Given the description of an element on the screen output the (x, y) to click on. 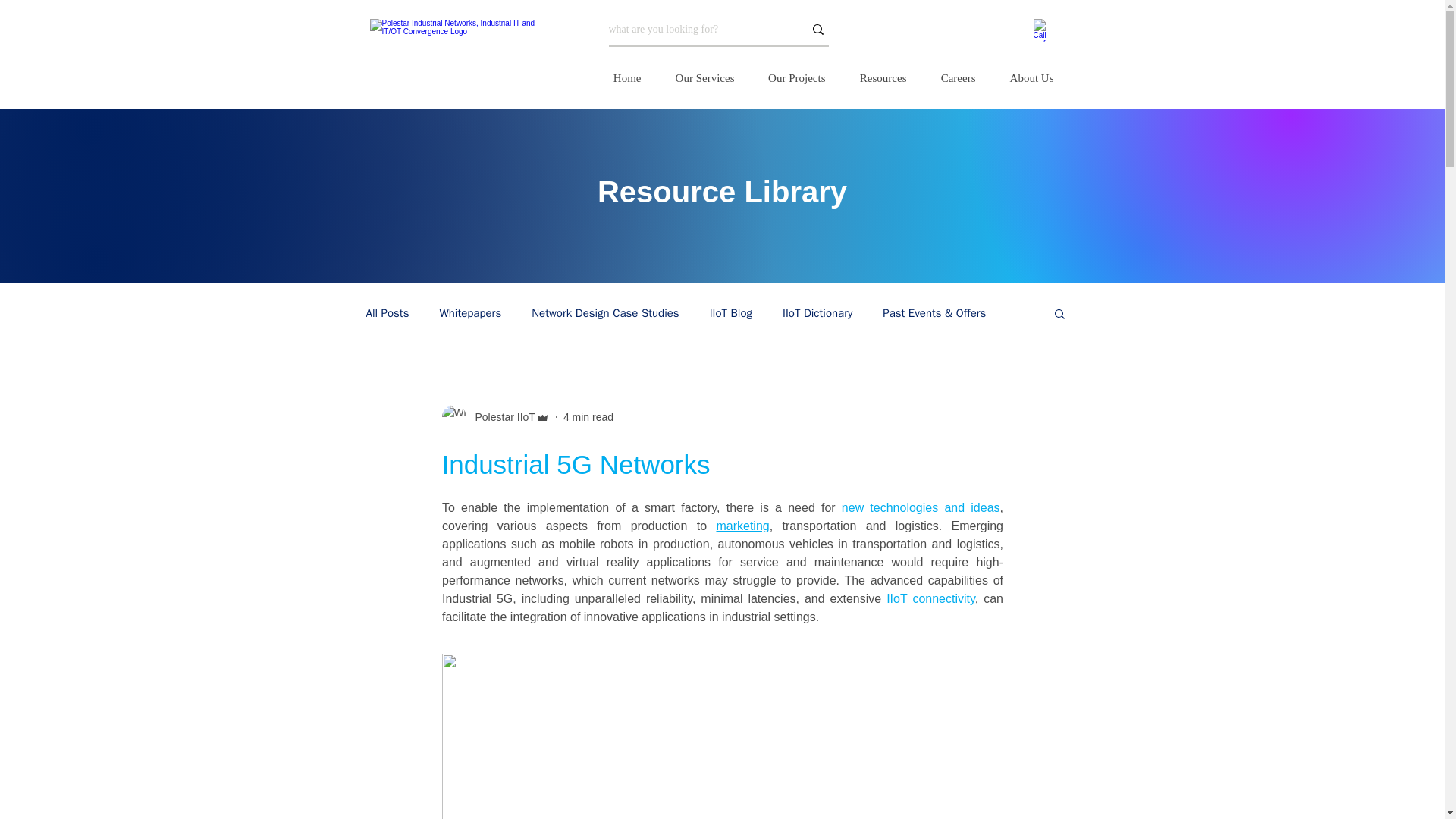
Whitepapers (469, 313)
Resources (877, 78)
Network Design Case Studies (604, 313)
About Us (1026, 78)
Home (620, 78)
IIoT Blog (731, 313)
Careers (952, 78)
Our Services (698, 78)
new technologies and ideas (919, 507)
4 min read (587, 417)
